Given the description of an element on the screen output the (x, y) to click on. 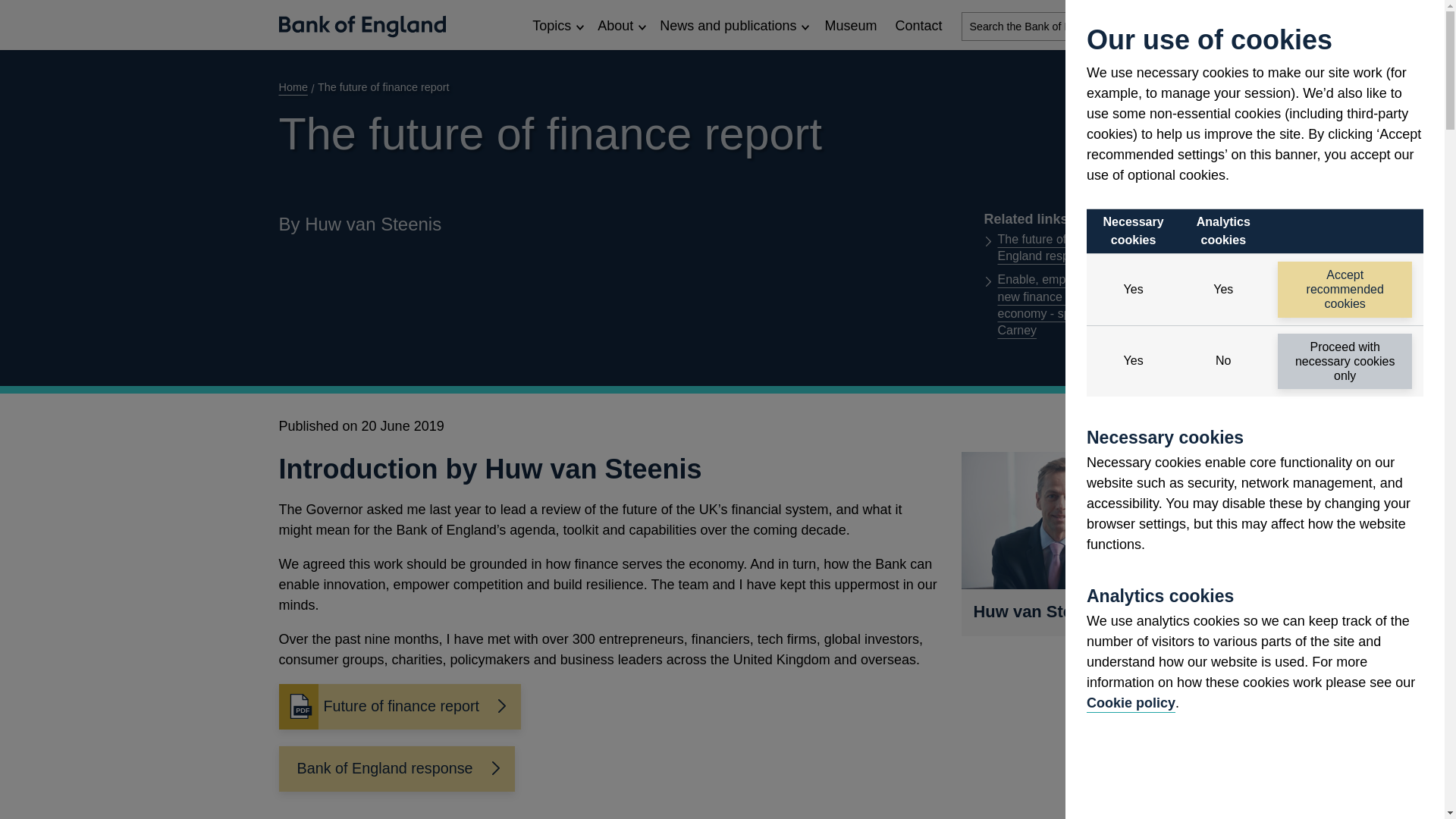
Proceed with necessary cookies only (1345, 361)
Accept recommended cookies (1345, 289)
Huw van Steenis (1063, 520)
Cookie policy (1130, 702)
submit search (1151, 26)
submit search (1151, 26)
